Given the description of an element on the screen output the (x, y) to click on. 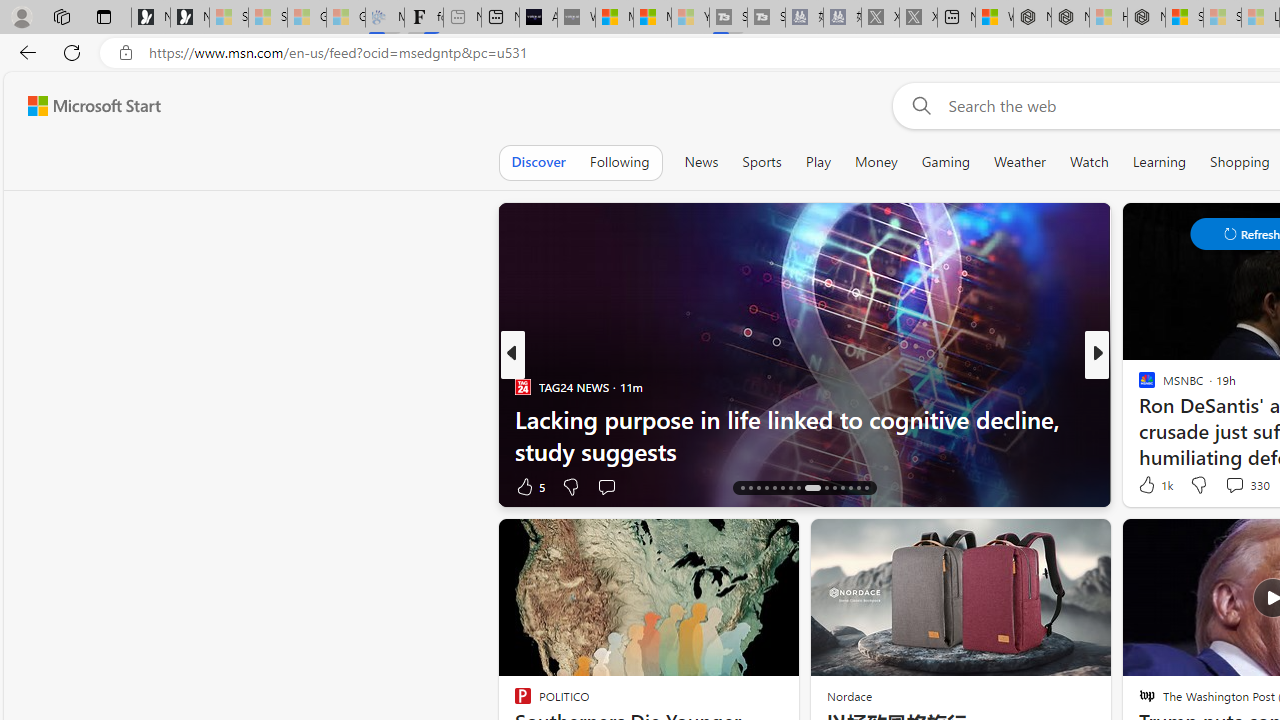
1k Like (1154, 484)
View comments 1 Comment (1234, 486)
AutomationID: tab-19 (765, 487)
8 Like (1145, 486)
LGBTQ Nation (1138, 386)
AutomationID: tab-22 (789, 487)
